Given the description of an element on the screen output the (x, y) to click on. 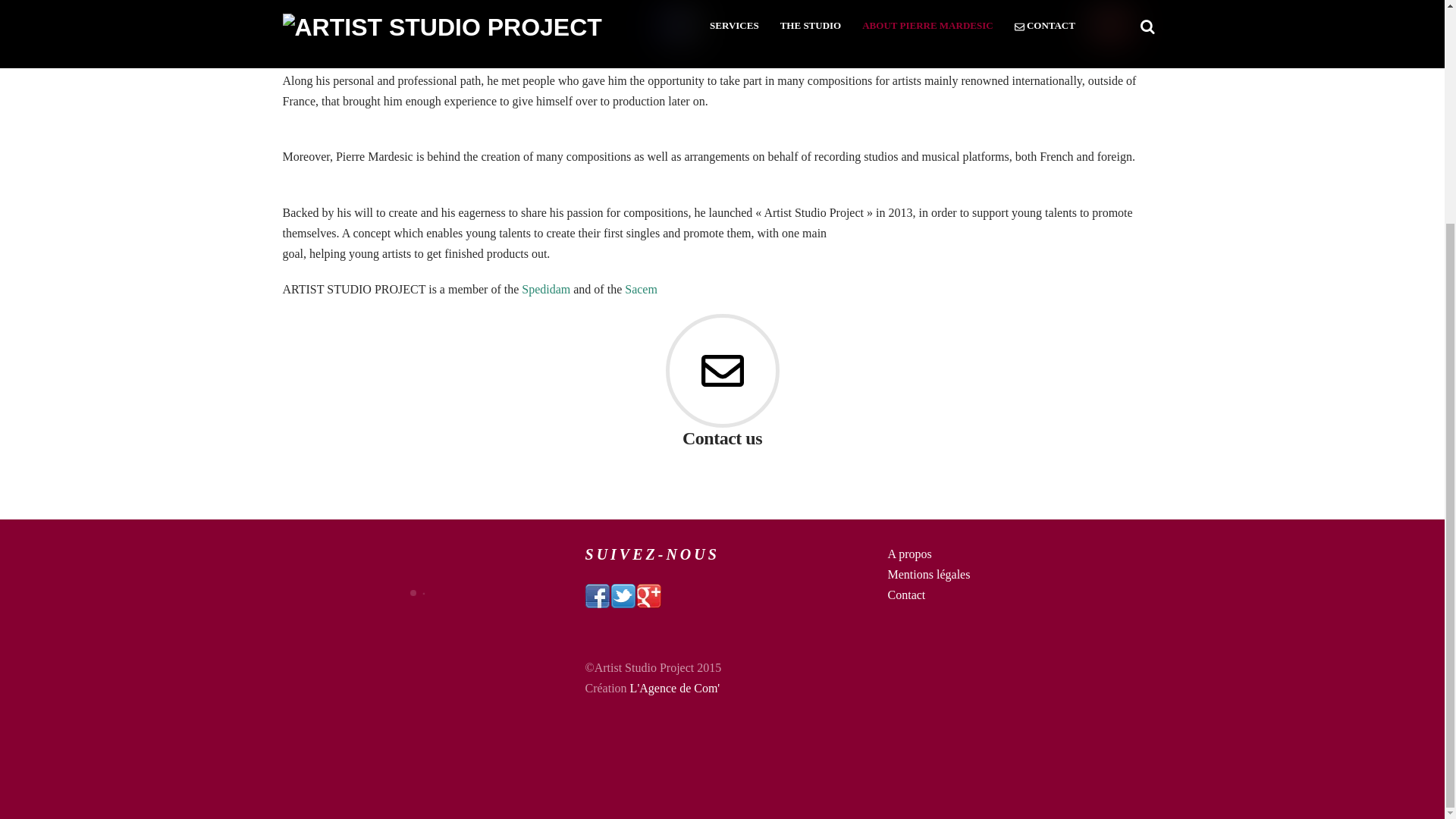
Contact (907, 594)
Spedidam (545, 288)
A propos (909, 553)
L'Agence de Com' (675, 687)
Sacem (641, 288)
